Given the description of an element on the screen output the (x, y) to click on. 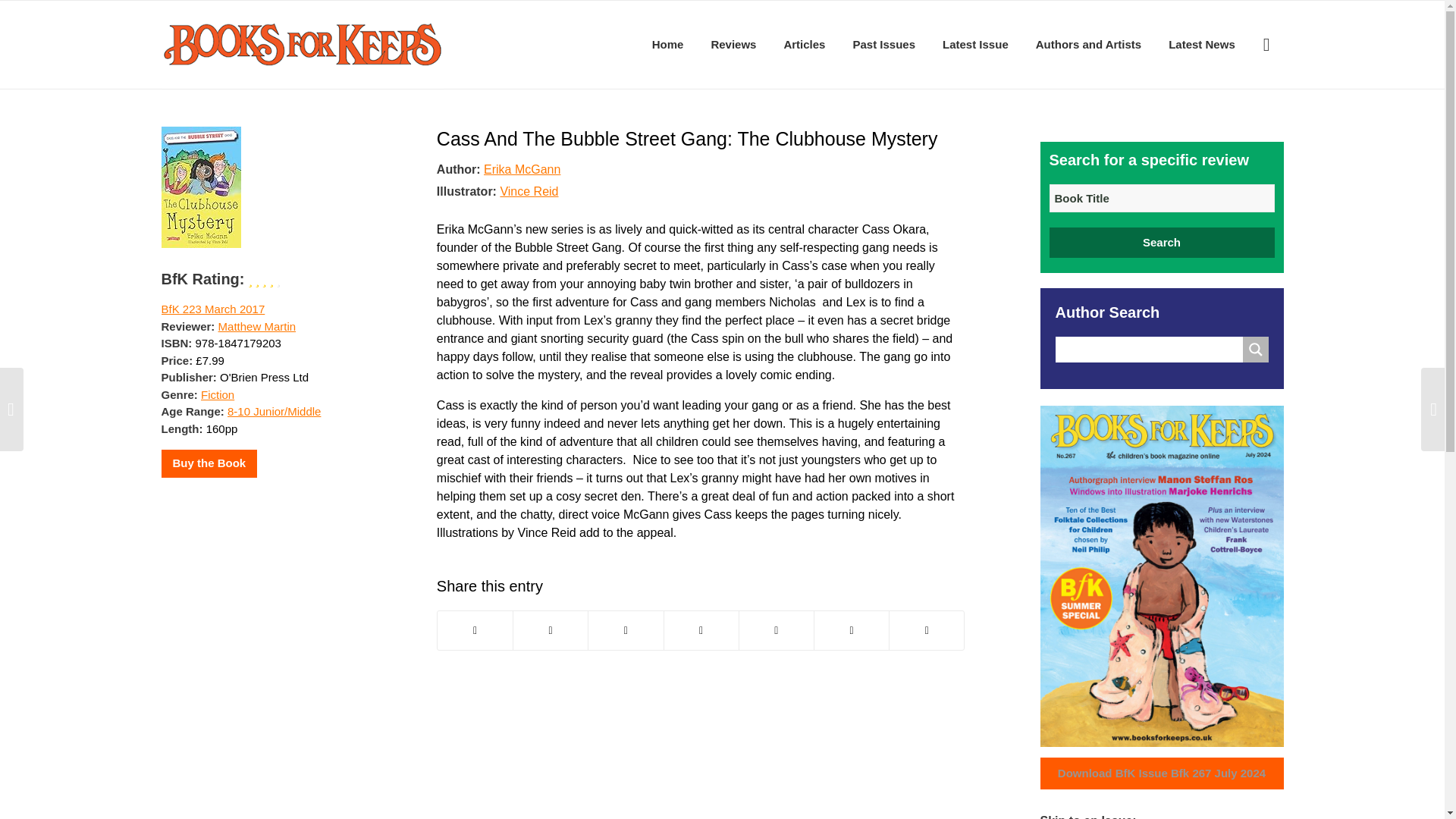
Buy the Book (208, 463)
Authors and Artists (1088, 44)
BfK 223 March 2017 (212, 308)
Past Issues (883, 44)
Vince Reid (528, 191)
Fiction (217, 394)
Latest News (1201, 44)
Erika McGann (521, 168)
Latest Issue (975, 44)
